Given the description of an element on the screen output the (x, y) to click on. 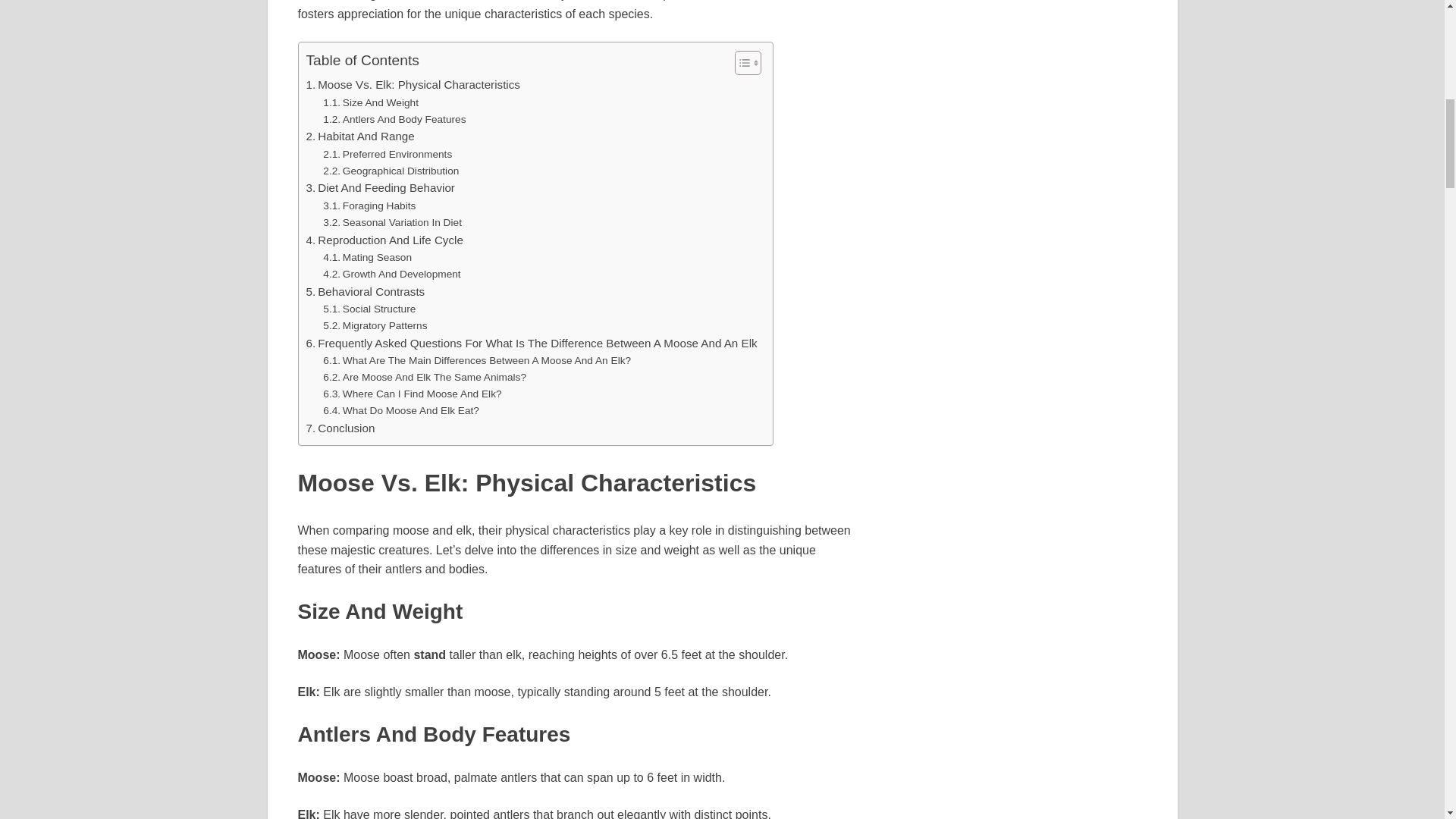
Preferred Environments (387, 154)
Habitat And Range (359, 136)
Size And Weight (371, 103)
Antlers And Body Features (394, 118)
Are Moose And Elk The Same Animals? (424, 377)
Behavioral Contrasts (365, 291)
Migratory Patterns (374, 325)
Foraging Habits (368, 206)
Antlers And Body Features (394, 118)
Diet And Feeding Behavior (379, 188)
Foraging Habits (368, 206)
Social Structure (368, 309)
Reproduction And Life Cycle (384, 239)
Diet And Feeding Behavior (379, 188)
